Given the description of an element on the screen output the (x, y) to click on. 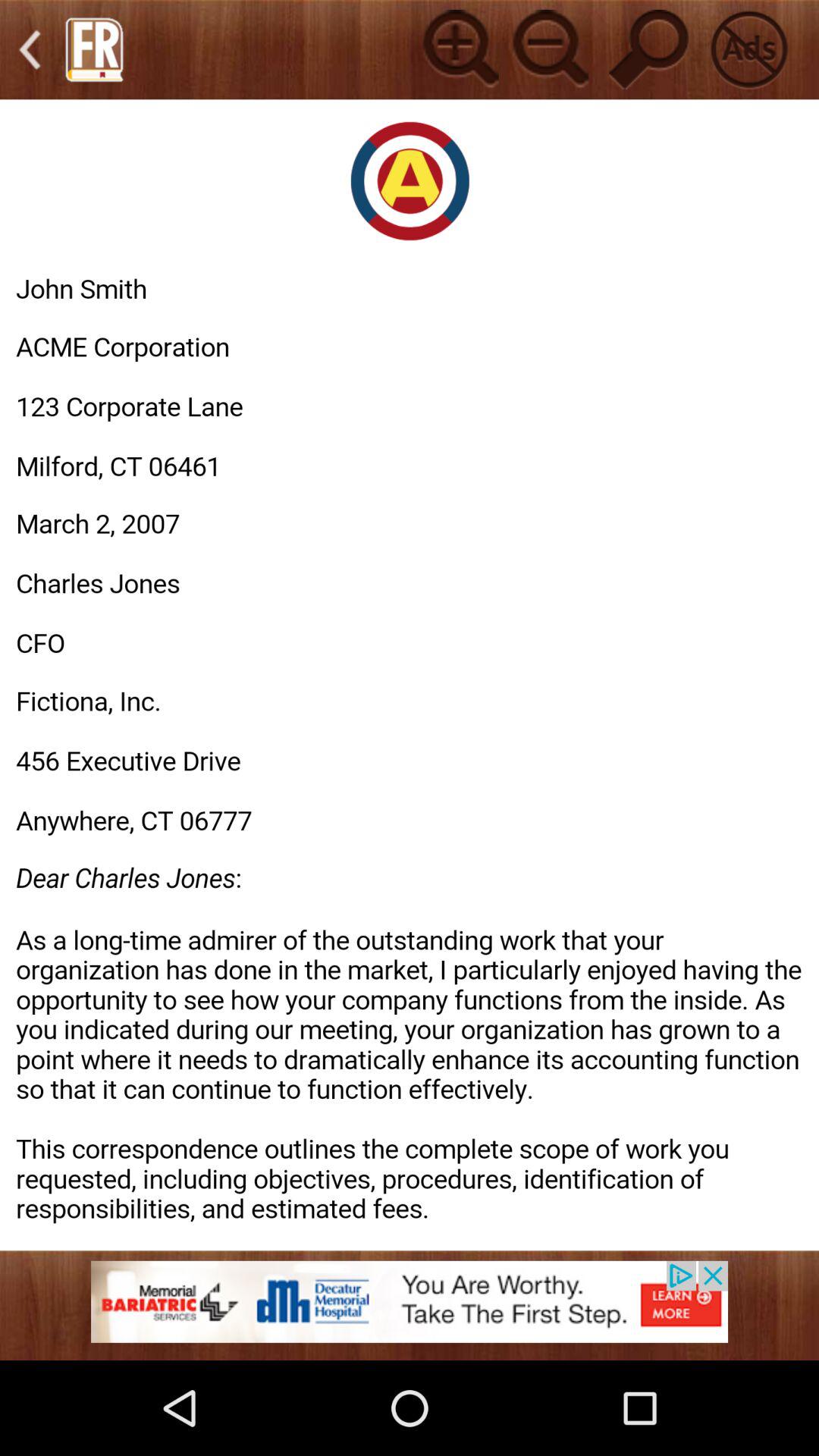
zoom in (458, 49)
